Given the description of an element on the screen output the (x, y) to click on. 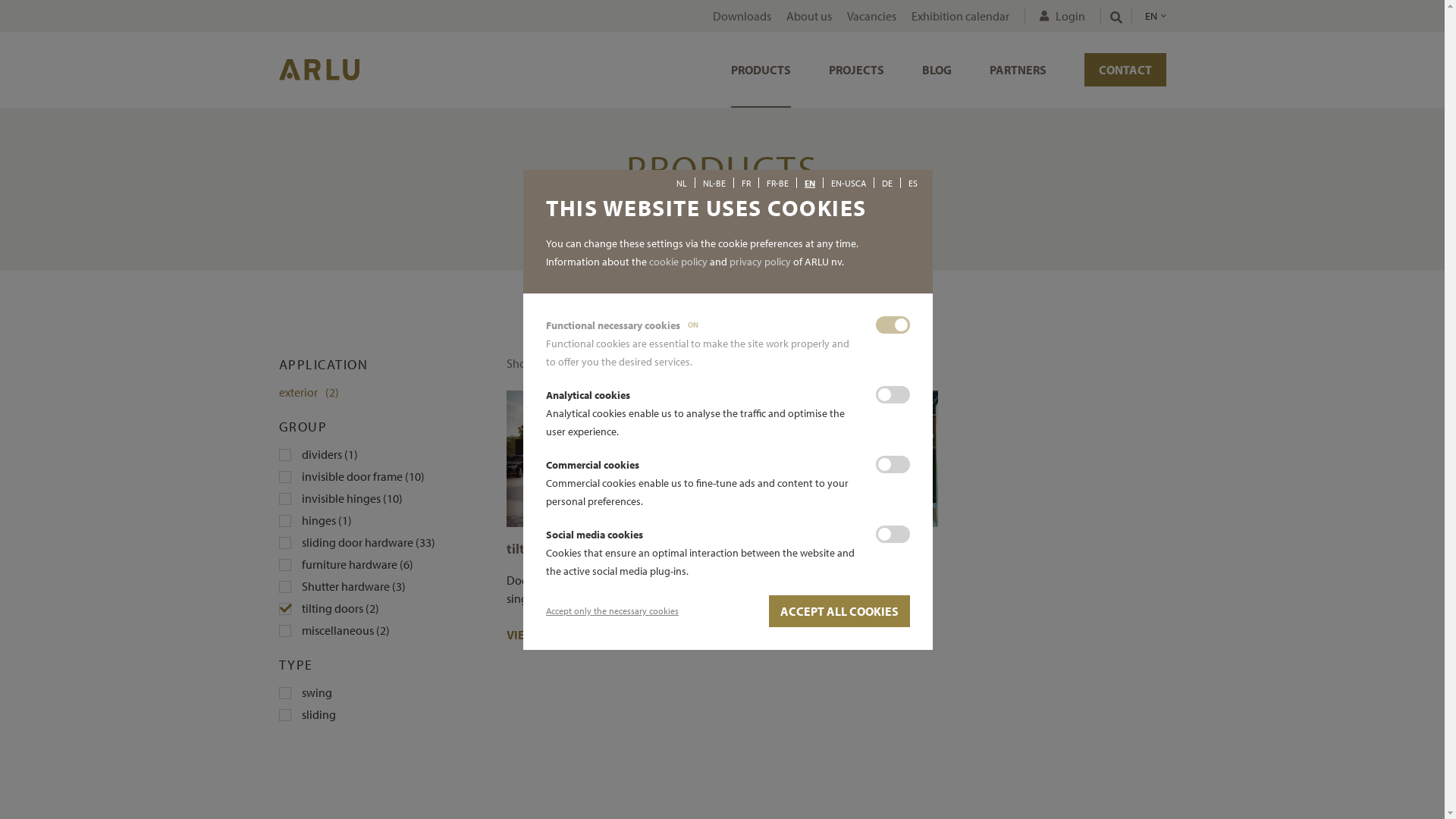
Exhibition calendar Element type: text (960, 15)
Home Element type: text (695, 223)
PRODUCTS Element type: text (760, 69)
BLOG Element type: text (936, 69)
VIEW PRODUCT Element type: text (554, 634)
Login Element type: text (1053, 15)
PROJECTS Element type: text (855, 69)
Search Element type: text (1080, 65)
NL-BE Element type: text (714, 183)
EN Element type: text (809, 183)
ES Element type: text (912, 183)
NL Element type: text (681, 183)
bisectional doors Element type: text (786, 548)
FR Element type: text (746, 183)
ACCEPT ALL COOKIES Element type: text (839, 610)
Downloads Element type: text (741, 15)
DE Element type: text (887, 183)
Skip to main content Element type: text (0, 0)
Accept only the necessary cookies Element type: text (612, 610)
cookie policy Element type: text (678, 261)
exterior
(2) Element type: text (381, 391)
privacy policy Element type: text (759, 261)
Home Element type: hover (319, 69)
FR-BE Element type: text (777, 183)
CONTACT Element type: text (1125, 69)
PARTNERS Element type: text (1016, 69)
Vacancies Element type: text (870, 15)
VIEW PRODUCT Element type: text (781, 634)
About us Element type: text (808, 15)
tilting doors Element type: text (544, 548)
EN-USCA Element type: text (848, 183)
